Given the description of an element on the screen output the (x, y) to click on. 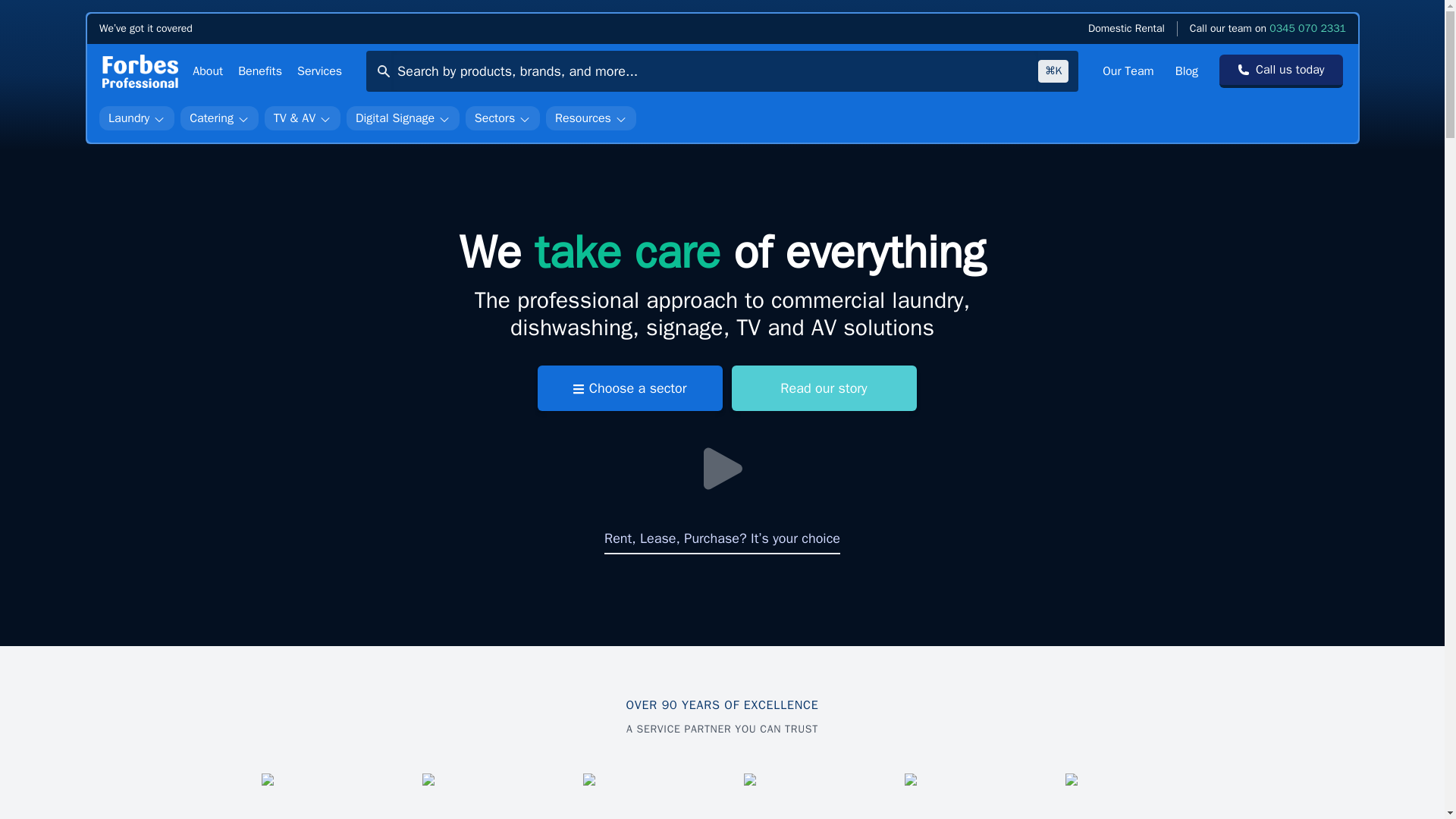
Digital Signage (402, 118)
Catering (219, 118)
Digital Signage (402, 118)
Laundry (135, 118)
Sectors (501, 118)
About (207, 70)
Resources (591, 118)
Read our story (822, 388)
0345 070 2331 (1307, 28)
Sectors (501, 118)
